Given the description of an element on the screen output the (x, y) to click on. 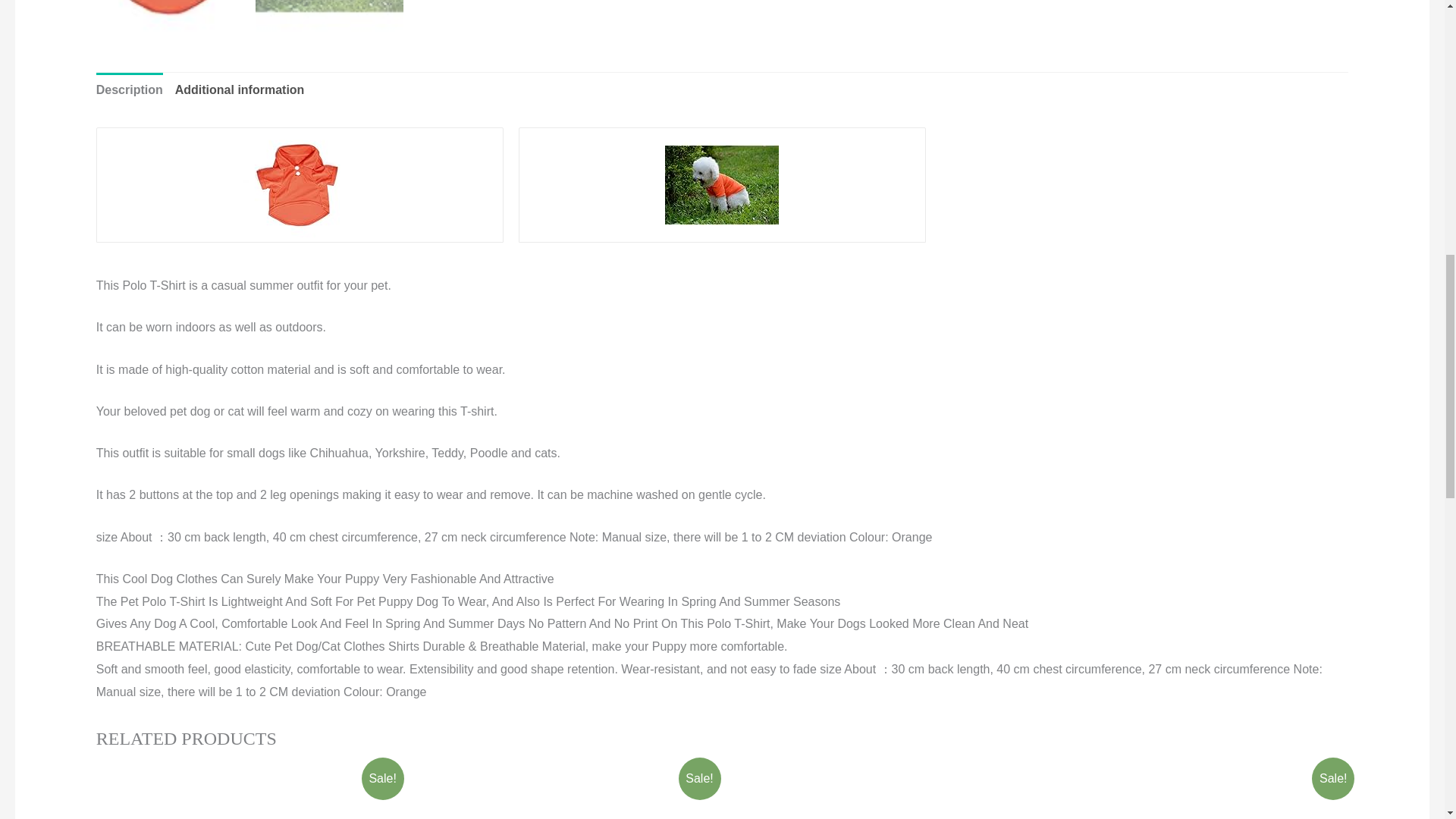
Description (129, 89)
Additional information (239, 89)
